Given the description of an element on the screen output the (x, y) to click on. 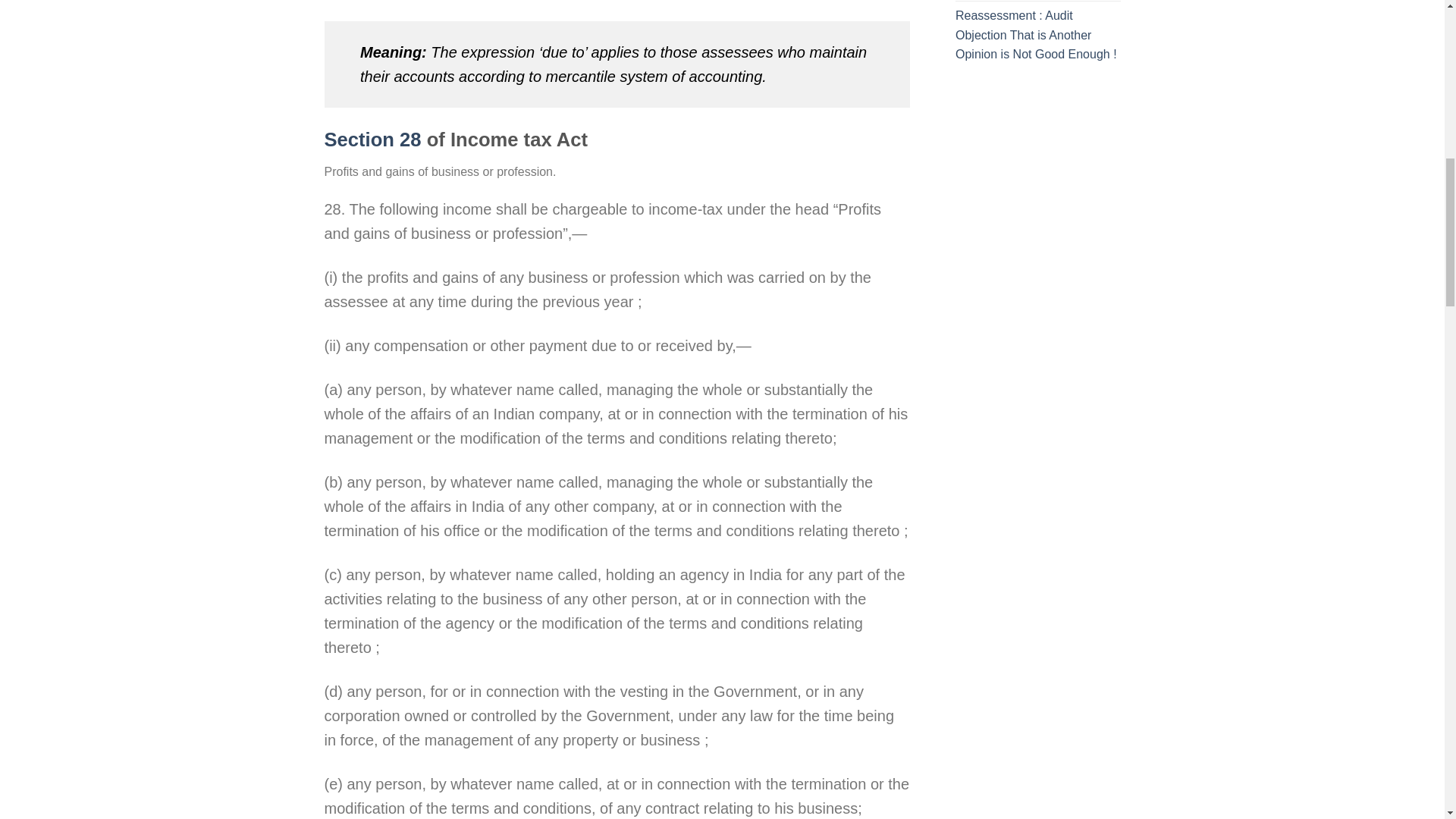
Section 28 (373, 138)
